Given the description of an element on the screen output the (x, y) to click on. 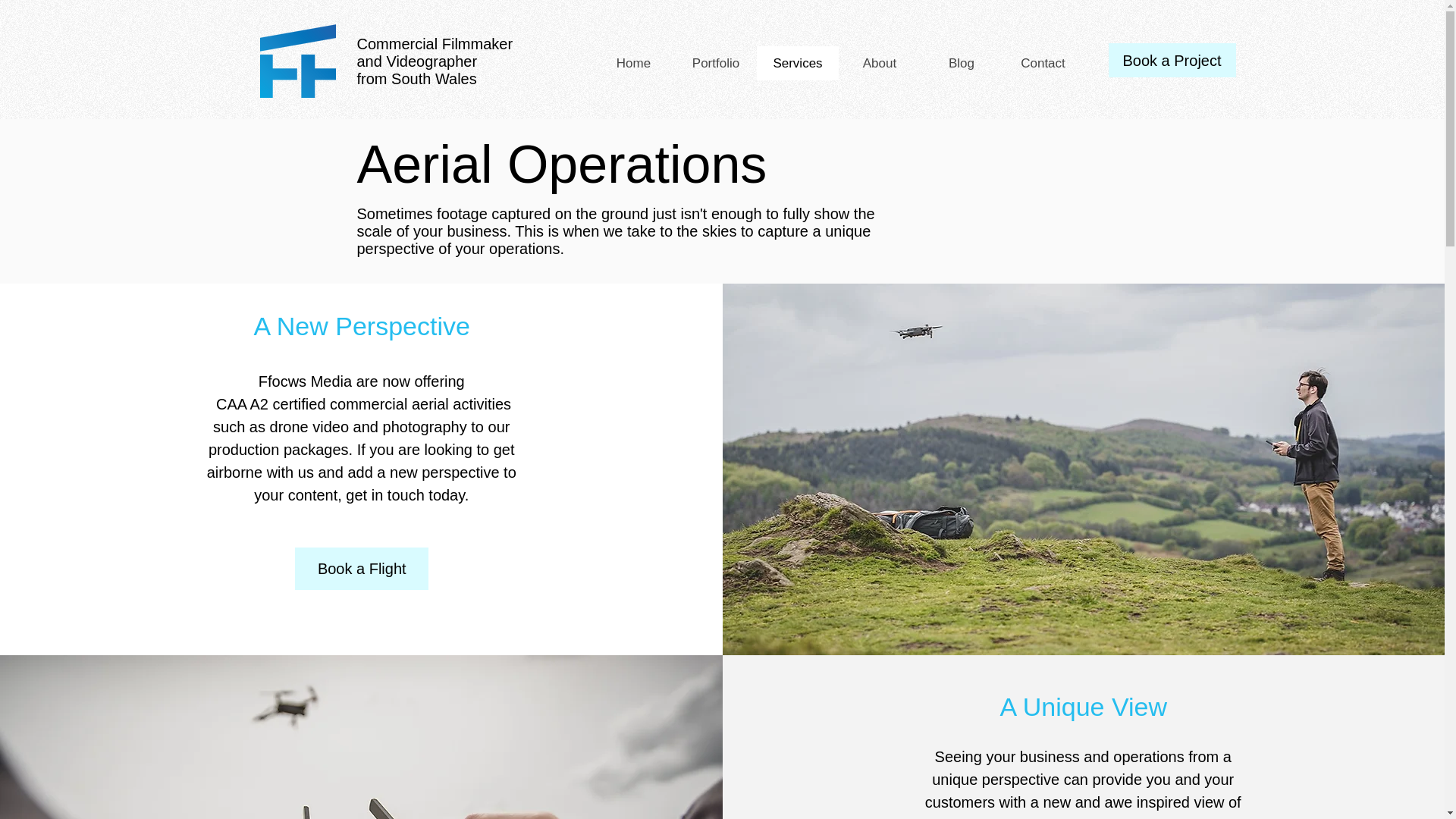
Book a Flight (361, 568)
Portfolio (716, 62)
Services (797, 62)
Blog (961, 62)
Contact (1043, 62)
Book a Project (1172, 59)
Home (633, 62)
About (879, 62)
